Given the description of an element on the screen output the (x, y) to click on. 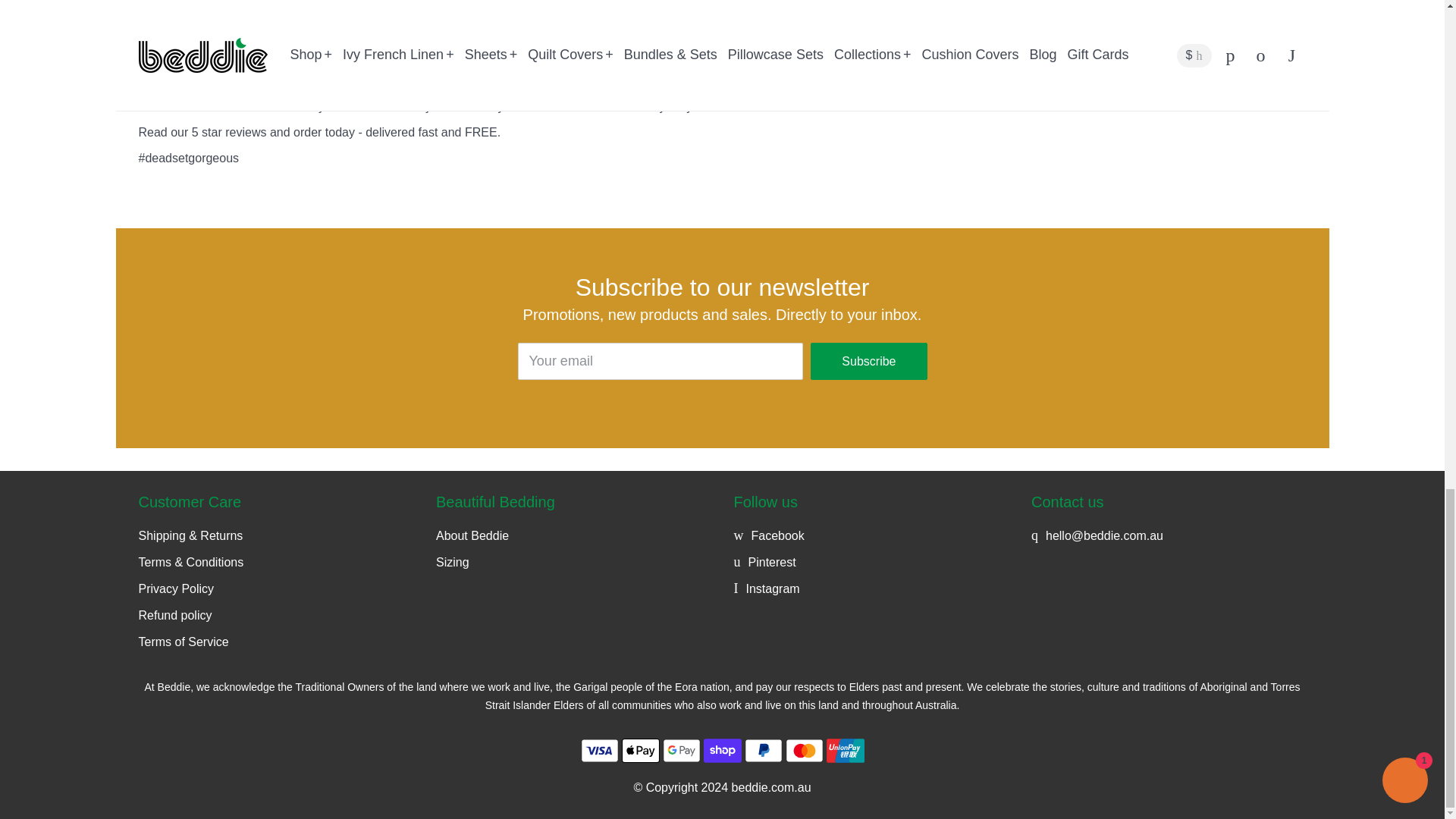
beddie.com.au on Instagram (766, 588)
Subscribe (868, 361)
beddie.com.au on Pinterest (764, 562)
beddie.com.au on Facebook (769, 535)
